Given the description of an element on the screen output the (x, y) to click on. 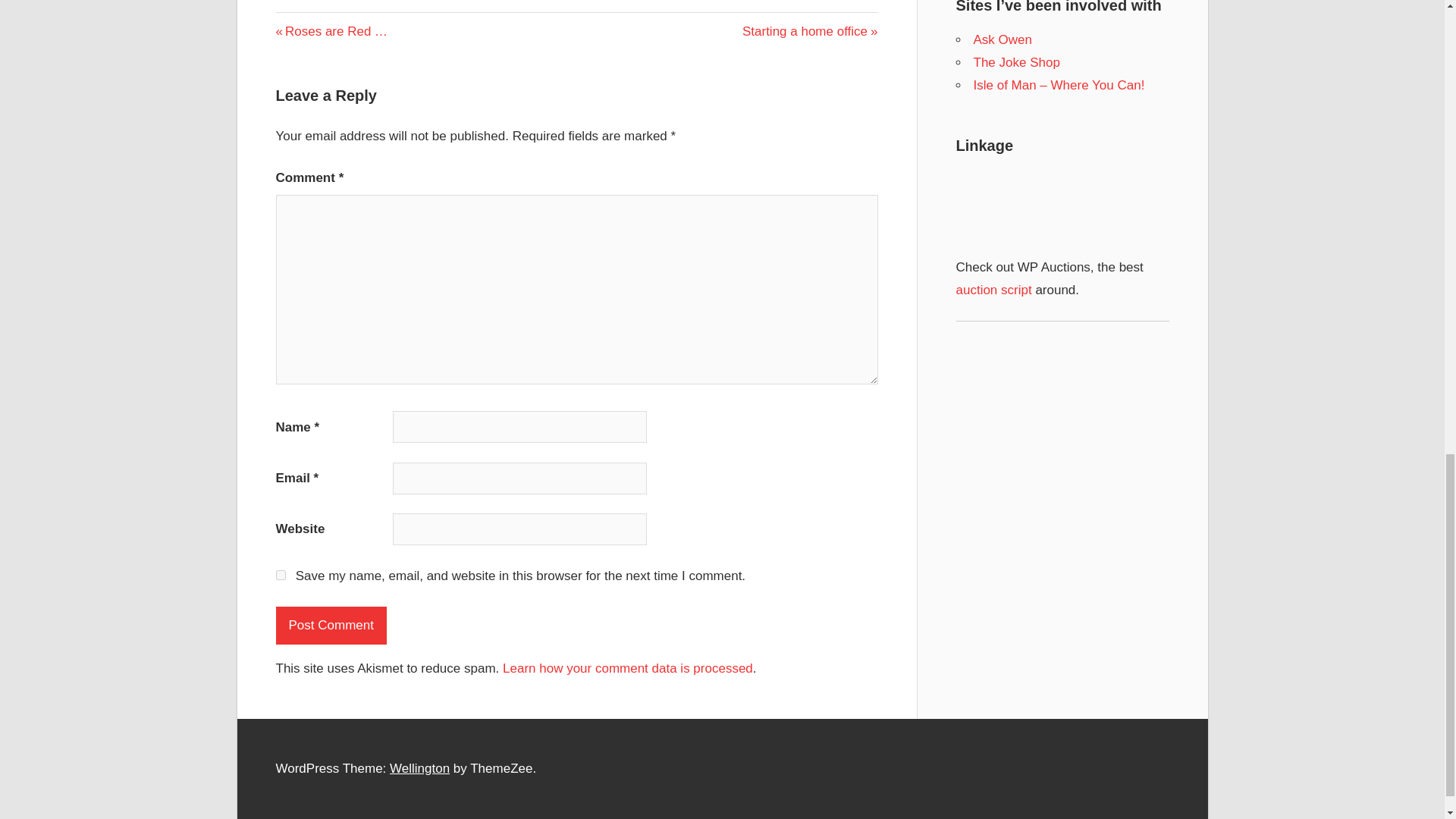
Wellington WordPress Theme (419, 768)
Post Comment (331, 625)
Ask Owen (1003, 39)
Post Comment (331, 625)
The Joke Shop (1016, 62)
yes (809, 31)
Wellington (280, 574)
auction script (419, 768)
Learn how your comment data is processed (992, 289)
